Given the description of an element on the screen output the (x, y) to click on. 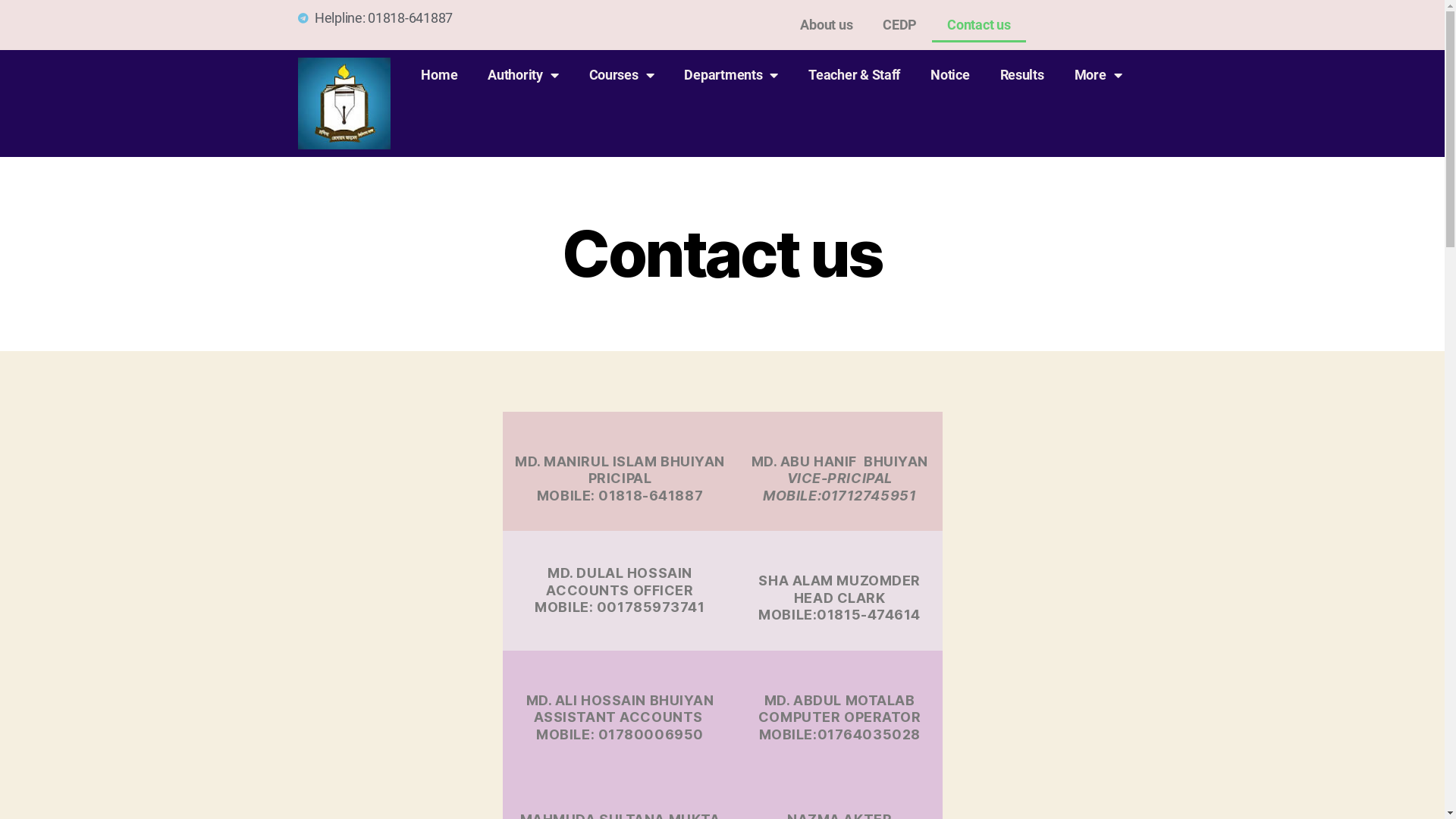
CEDP Element type: text (899, 24)
Authority Element type: text (522, 74)
About us Element type: text (825, 24)
Departments Element type: text (730, 74)
Teacher & Staff Element type: text (854, 74)
Results Element type: text (1022, 74)
More Element type: text (1098, 74)
Home Element type: text (438, 74)
Contact us Element type: text (978, 24)
Notice Element type: text (949, 74)
Courses Element type: text (621, 74)
